Given the description of an element on the screen output the (x, y) to click on. 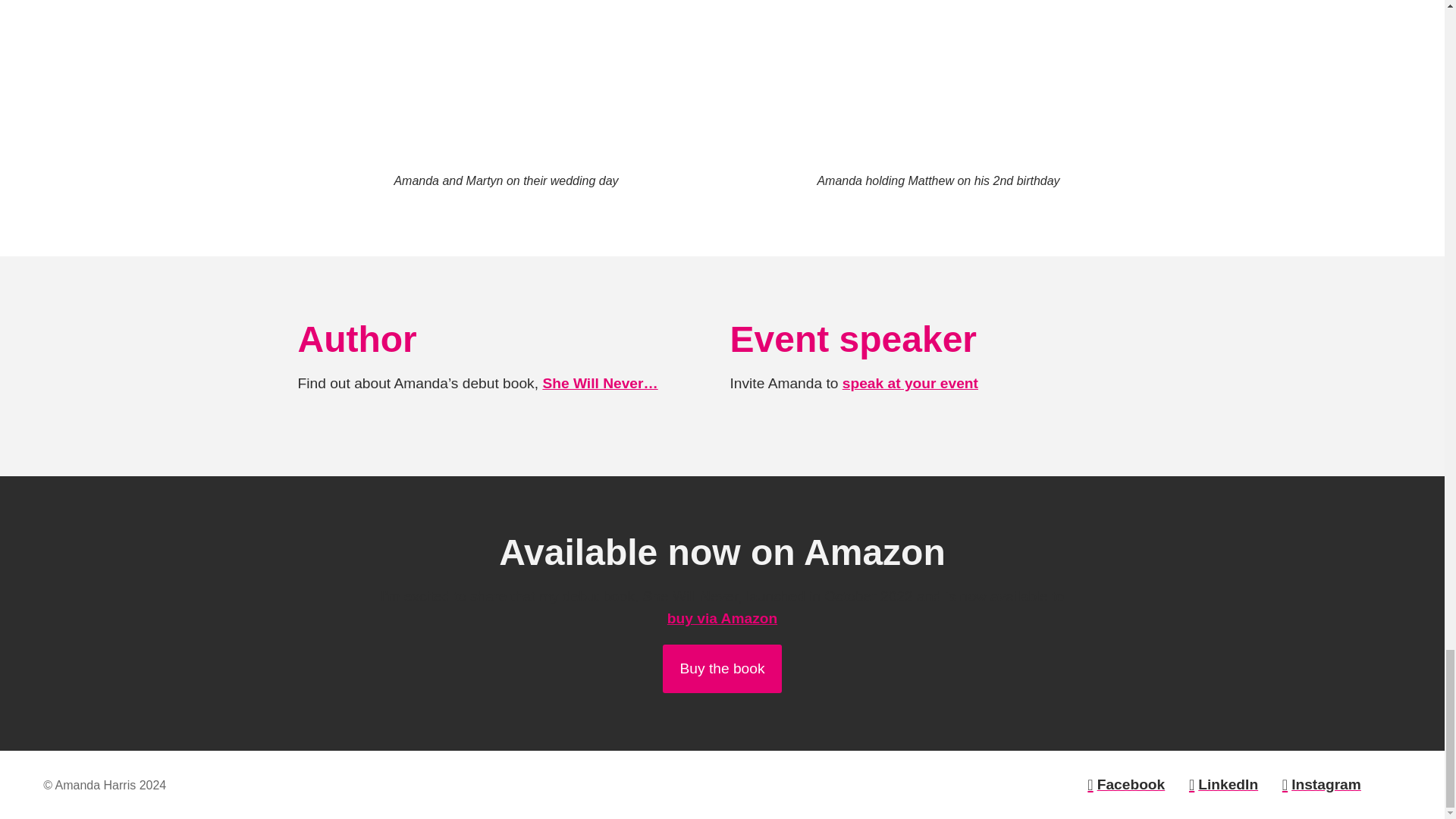
Buy now via Amazon (721, 618)
Buy the book (721, 668)
Read about my debut book (599, 383)
Follow Amanda on LinkedIn (1215, 784)
Follow Amanda on Facebook (1120, 784)
Purchase via Amazon (721, 668)
Follow Amanda on LinkedIn (1314, 784)
buy via Amazon (721, 618)
speak at your event (910, 383)
Facebook (1120, 784)
